Given the description of an element on the screen output the (x, y) to click on. 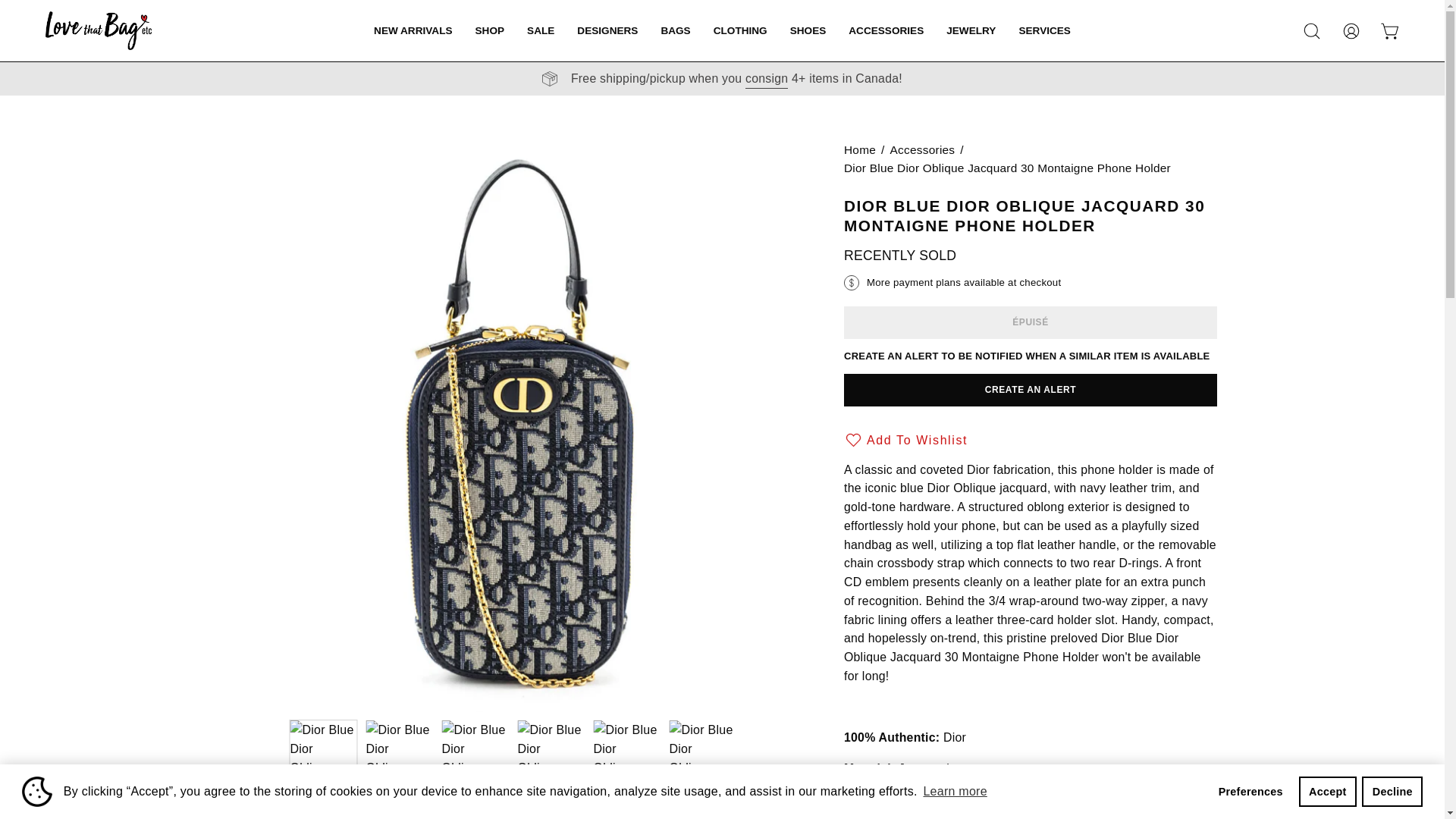
Decline (1391, 791)
Learn about luxury consignment in Canada (766, 78)
Retour a la page d'acceuil (860, 149)
Learn more (955, 791)
Preferences (1250, 791)
Ouvrir la barre de recherche (1311, 30)
Accept (1327, 791)
